Given the description of an element on the screen output the (x, y) to click on. 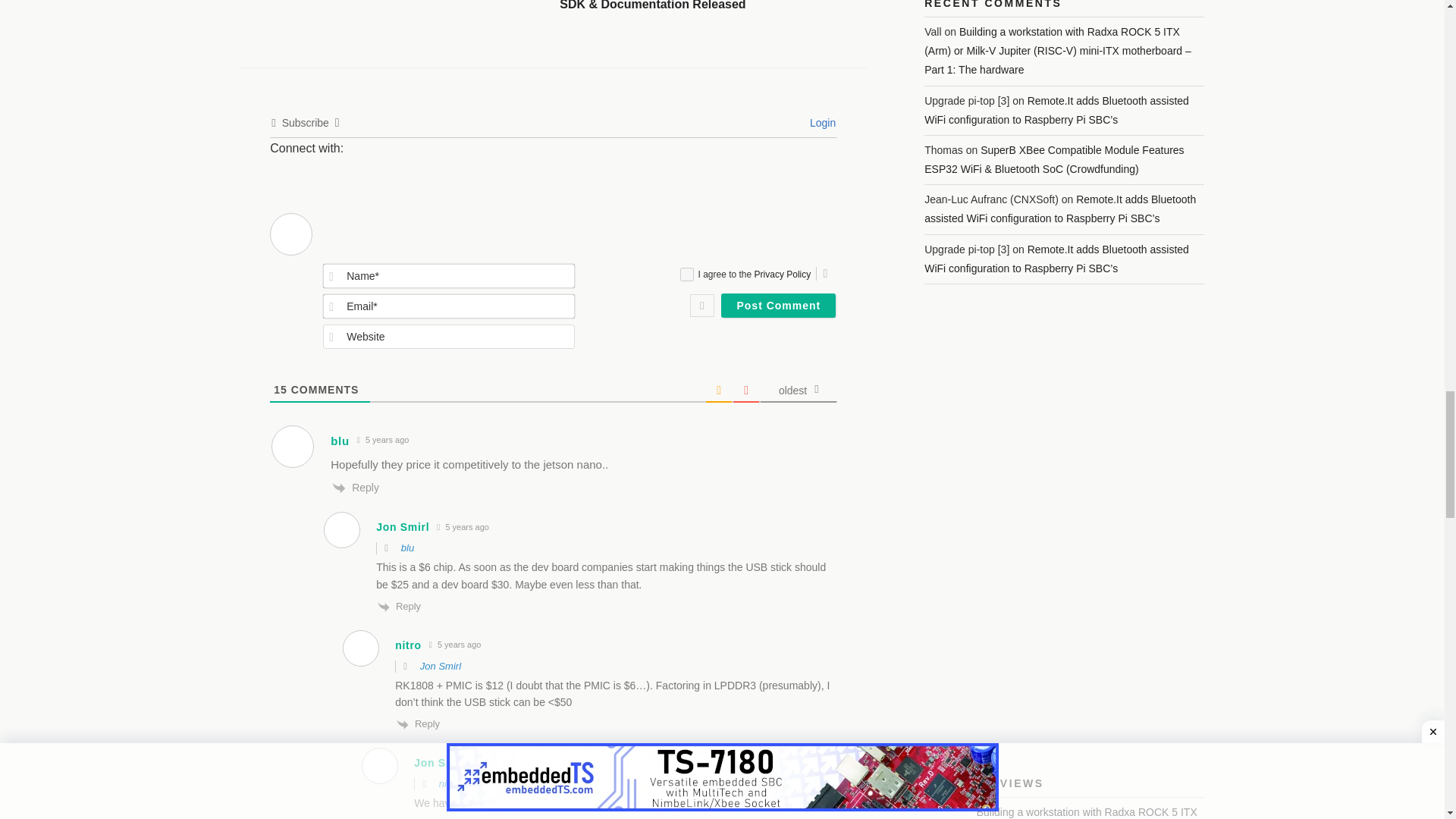
Post Comment (777, 305)
1 (686, 273)
